Given the description of an element on the screen output the (x, y) to click on. 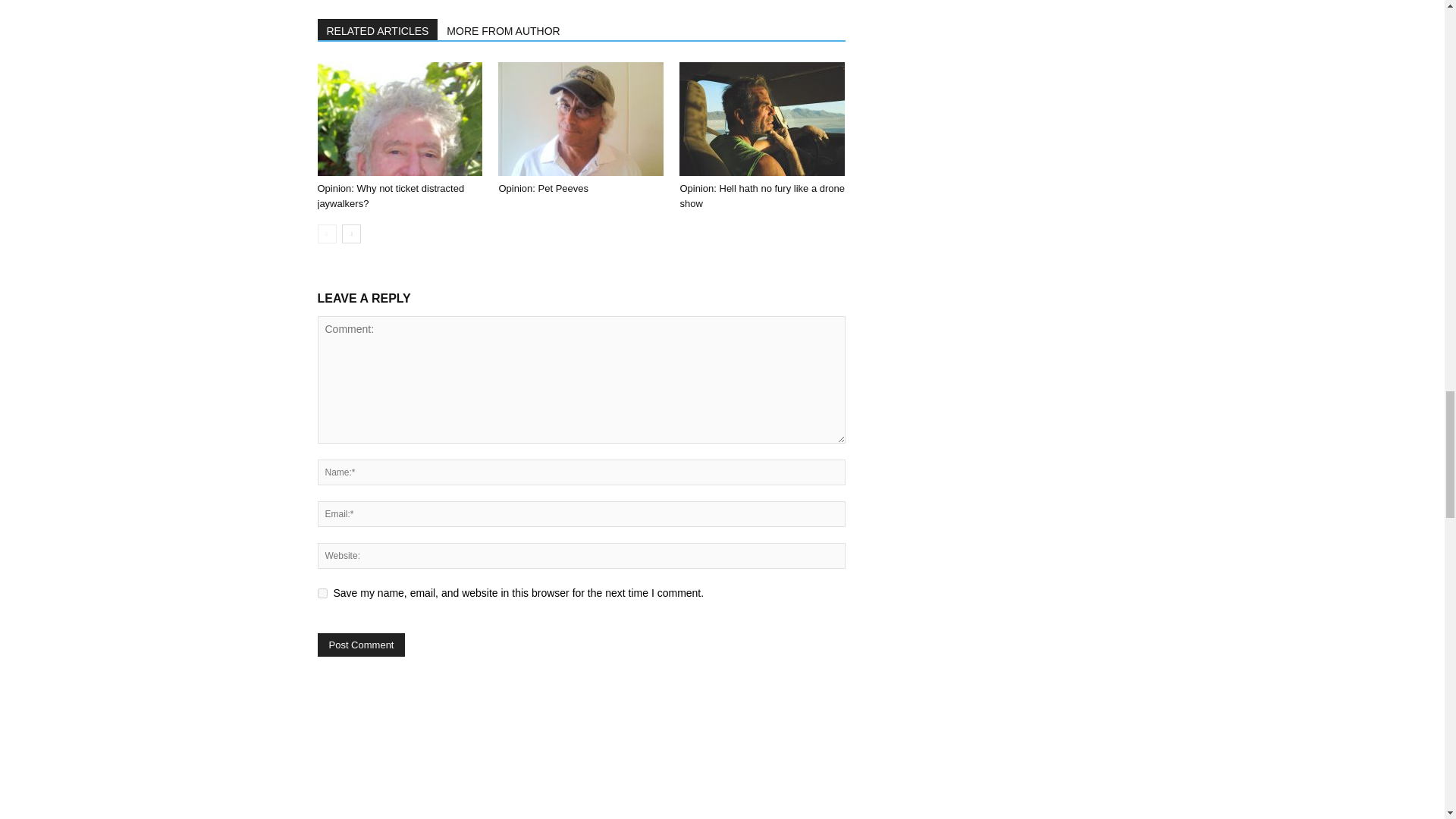
Post Comment (360, 644)
yes (321, 593)
